Given the description of an element on the screen output the (x, y) to click on. 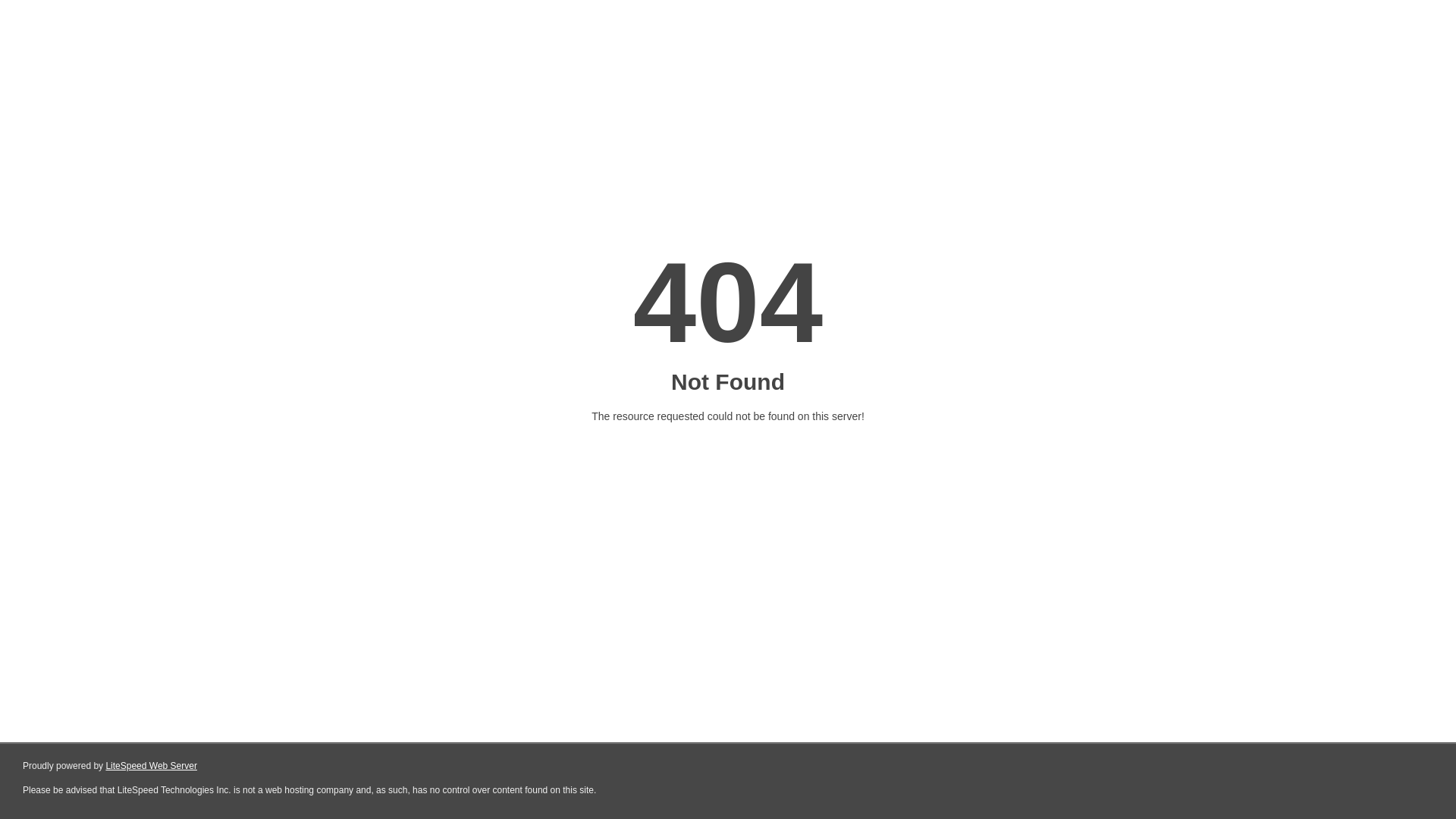
LiteSpeed Web Server Element type: text (151, 765)
